Given the description of an element on the screen output the (x, y) to click on. 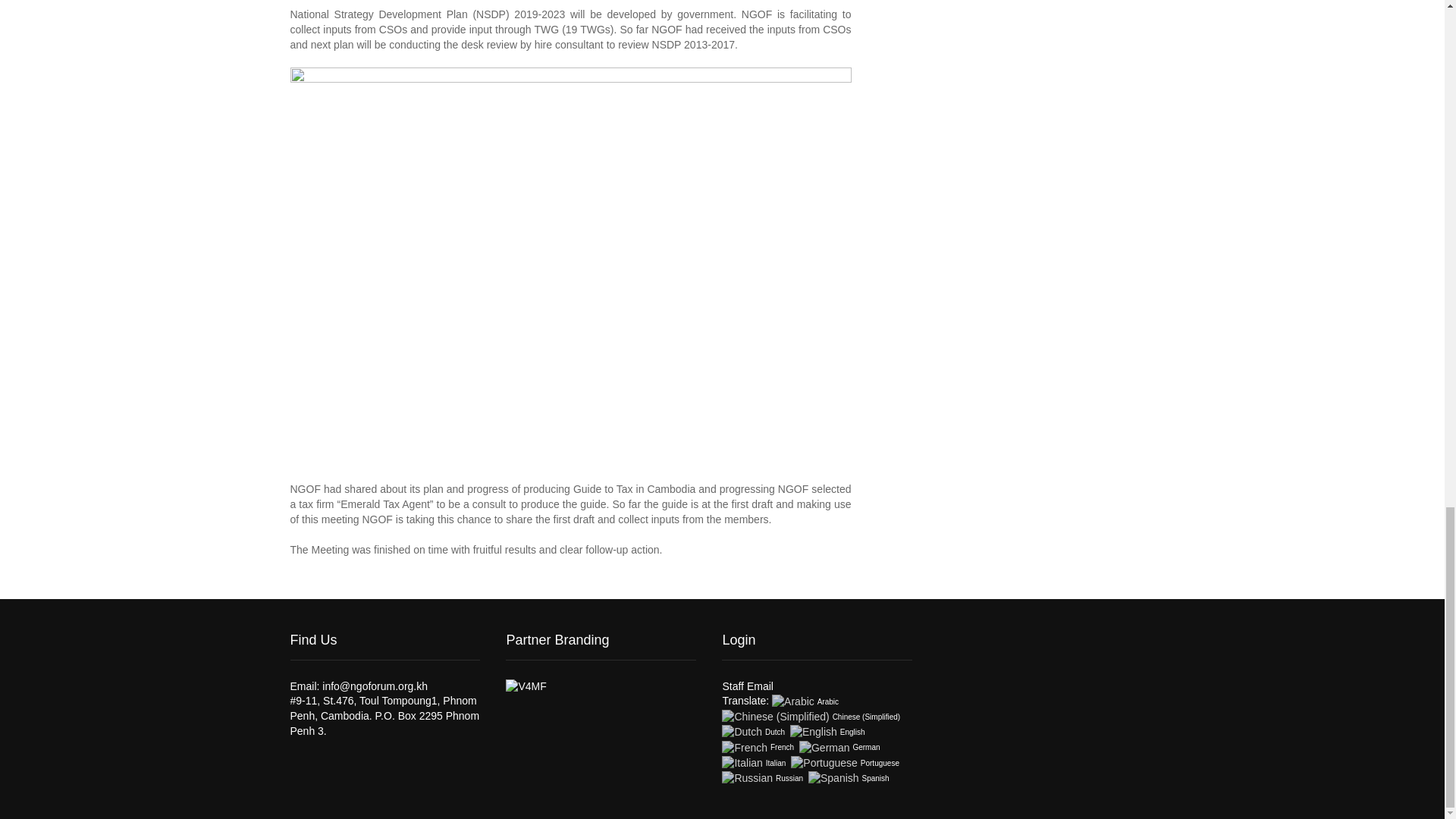
Russian (763, 777)
Arabic (806, 700)
Italian (754, 762)
German (840, 746)
French (759, 746)
Dutch (754, 731)
Portuguese (845, 762)
English (828, 731)
Spanish (849, 777)
